Given the description of an element on the screen output the (x, y) to click on. 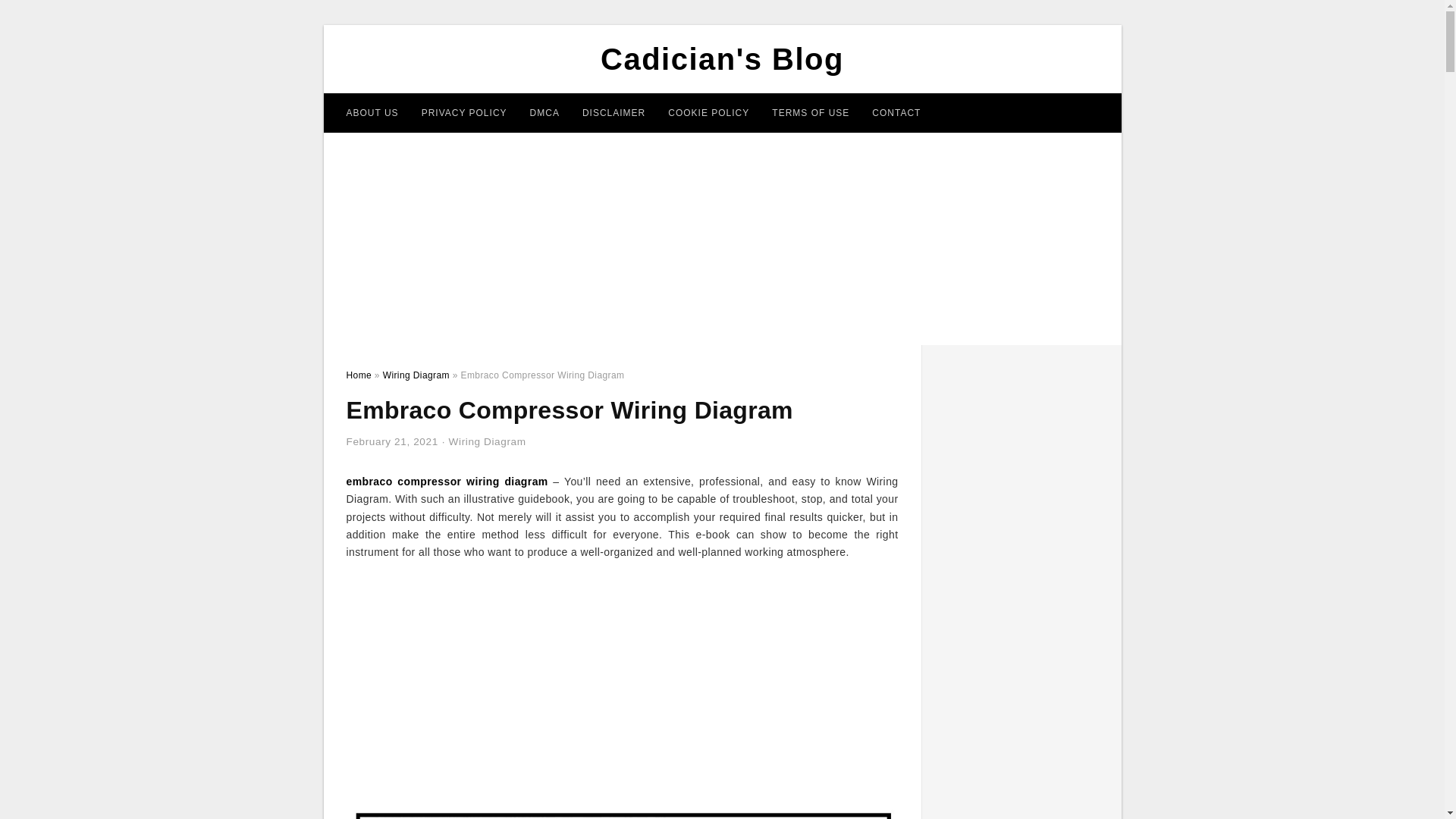
DMCA (544, 112)
Wiring Diagram (415, 375)
Wiring Diagram (486, 441)
Cadician's Blog (721, 59)
Home (358, 375)
embraco compressor wiring diagram (446, 481)
ABOUT US (372, 112)
COOKIE POLICY (708, 112)
PRIVACY POLICY (464, 112)
DISCLAIMER (613, 112)
CONTACT (895, 112)
Advertisement (622, 684)
TERMS OF USE (810, 112)
